Given the description of an element on the screen output the (x, y) to click on. 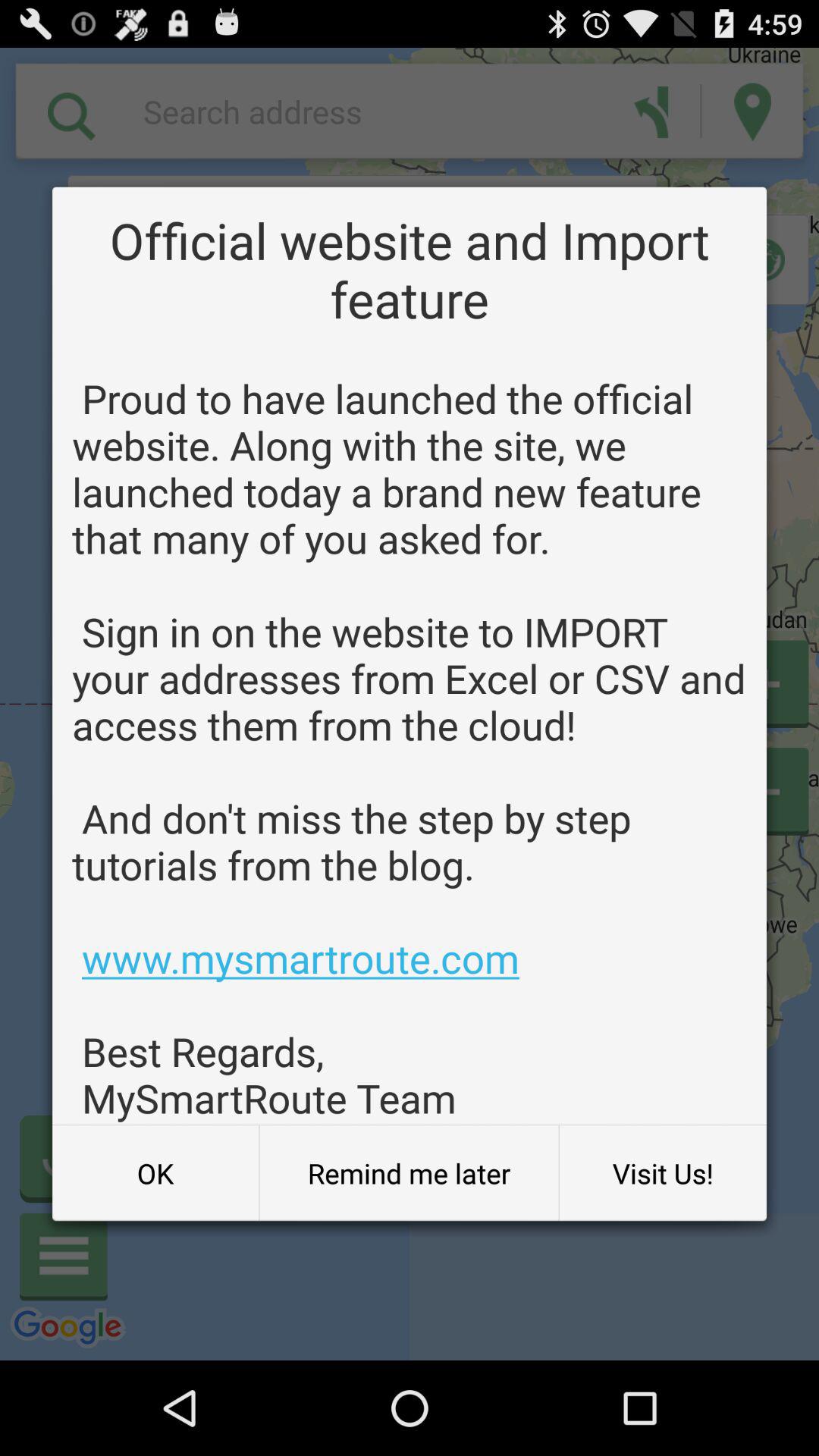
tap the button to the left of visit us! icon (408, 1173)
